Given the description of an element on the screen output the (x, y) to click on. 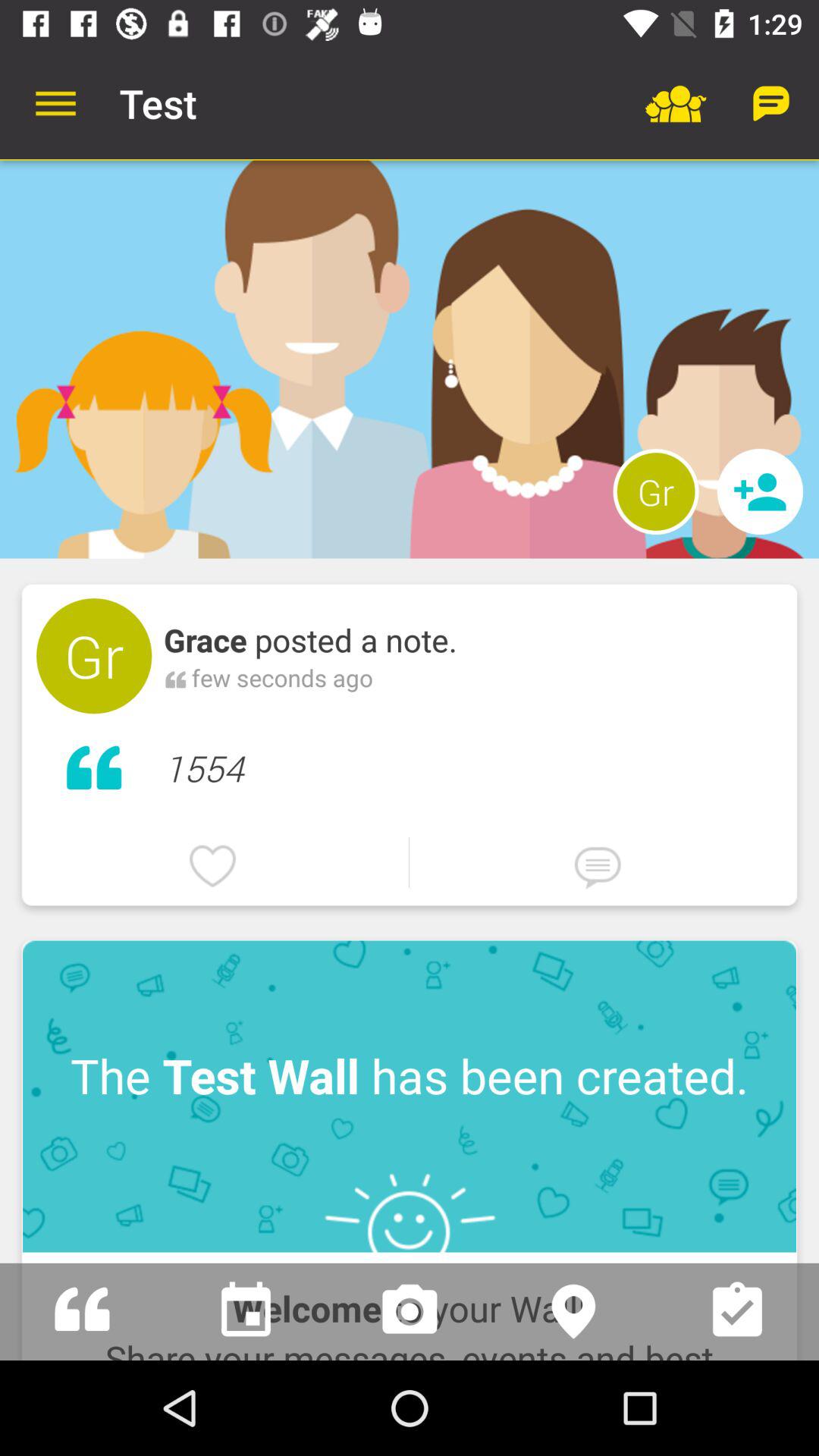
launch welcome to your icon (409, 1306)
